Given the description of an element on the screen output the (x, y) to click on. 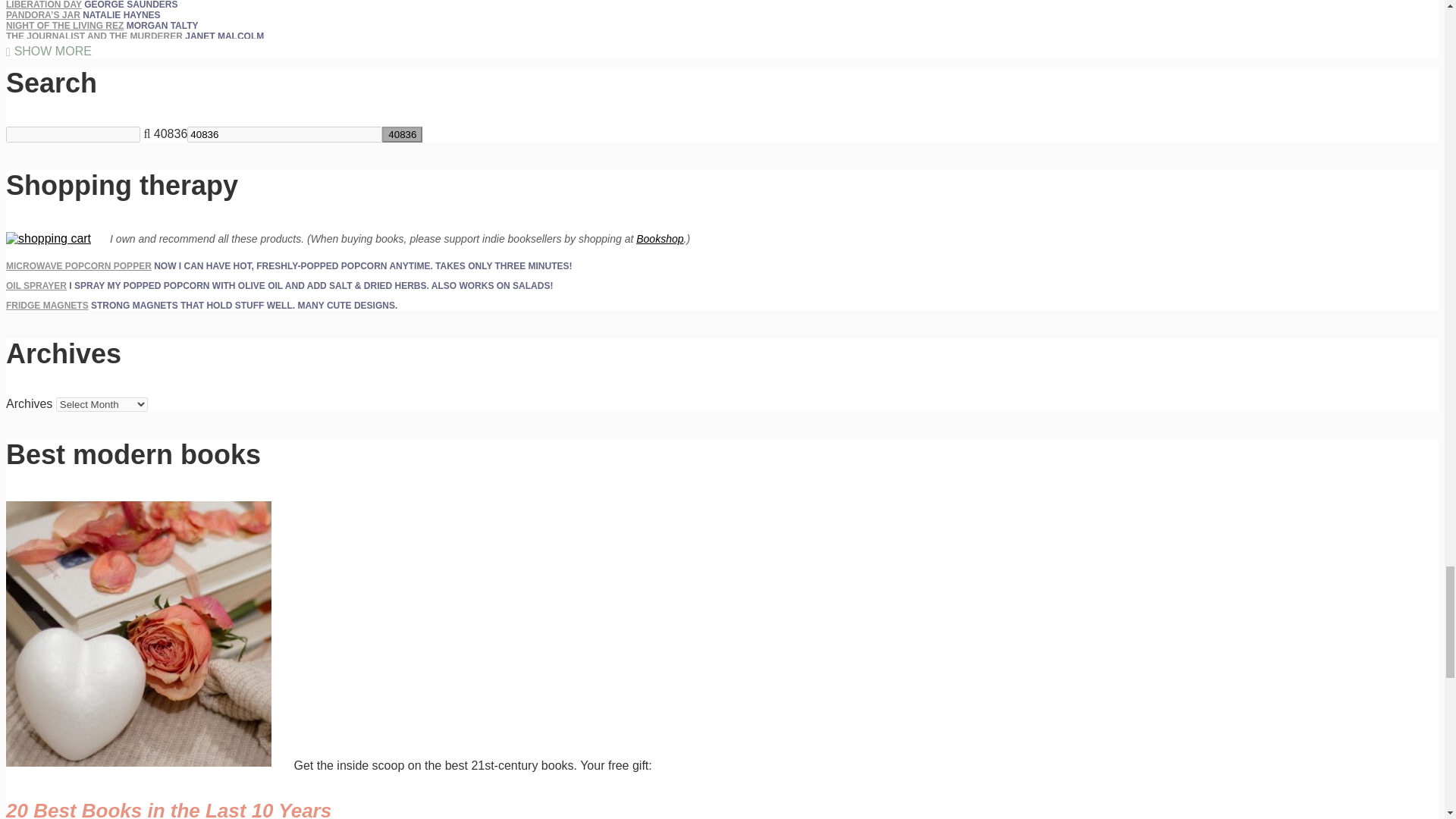
40836 (401, 134)
40836 (284, 134)
40836 (284, 134)
40836 (401, 134)
